Given the description of an element on the screen output the (x, y) to click on. 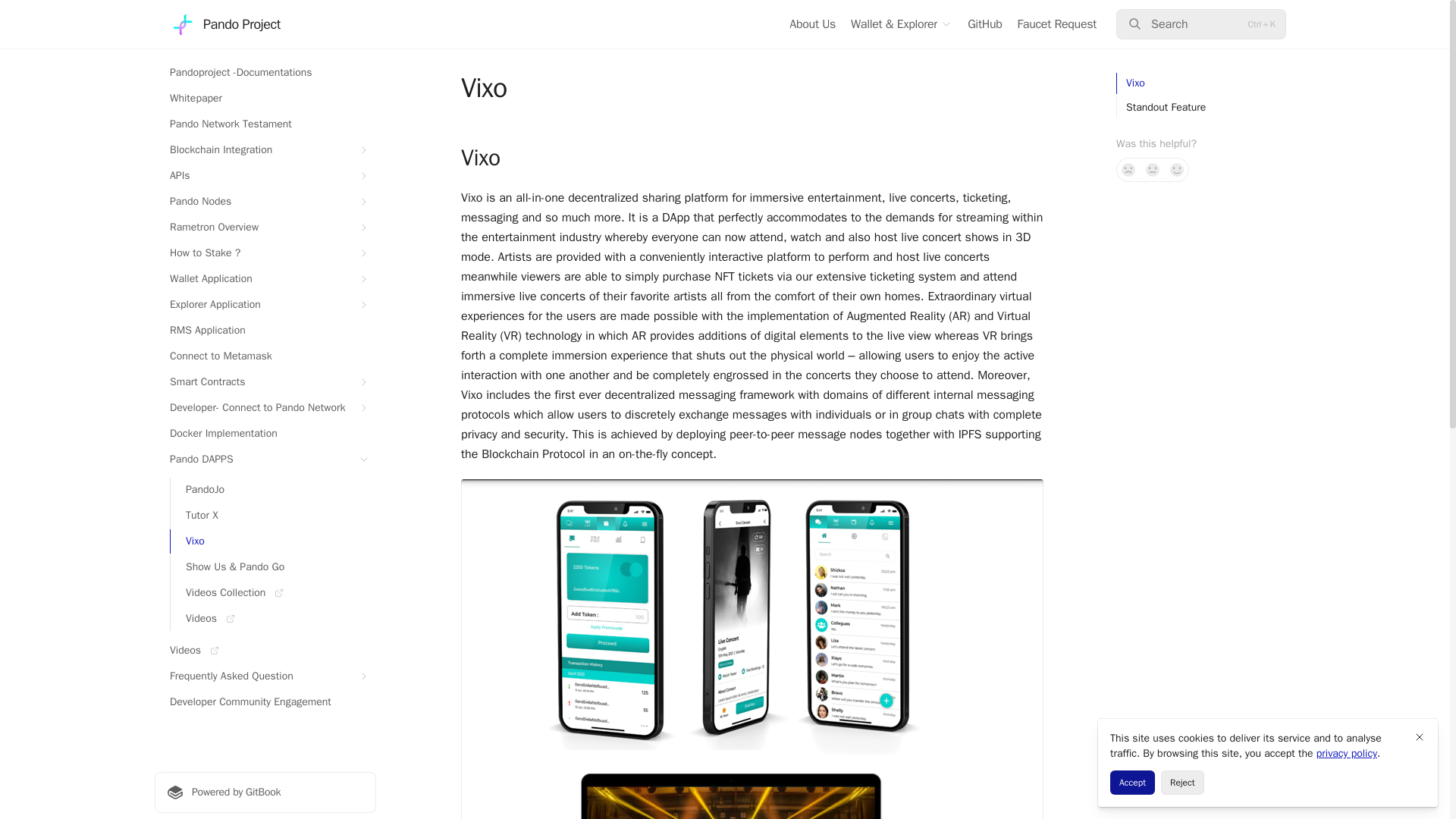
Pando Nodes (264, 201)
Faucet Request (1056, 24)
About Us (812, 24)
Pando Project (225, 24)
APIs (264, 175)
Pando Network Testament (264, 124)
Not sure (1152, 169)
Yes, it was! (1176, 169)
Rametron Overview (264, 227)
Pandoproject -Documentations (264, 72)
Whitepaper (264, 98)
Close (1419, 737)
No (1128, 169)
Blockchain Integration (264, 150)
